Given the description of an element on the screen output the (x, y) to click on. 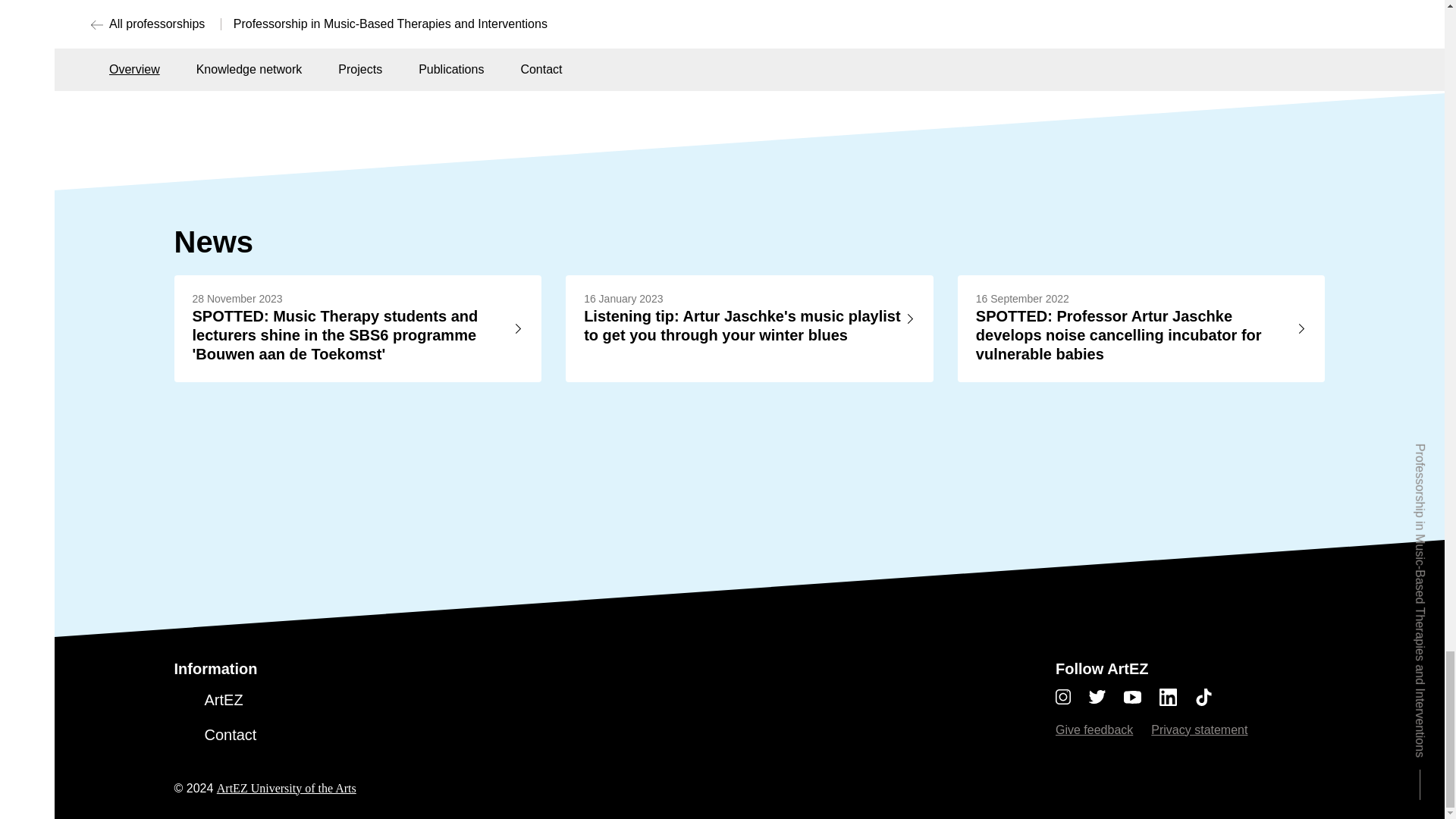
Youtube icon (1132, 696)
ArtEZ (224, 700)
linkedin (1176, 696)
youtube (1141, 696)
Instagram icon (1062, 696)
tiktok (1203, 696)
Privacy statement (1199, 729)
LinkedIn icon (1167, 696)
instagram (1072, 696)
twitter (1106, 696)
Give feedback (1093, 729)
